Given the description of an element on the screen output the (x, y) to click on. 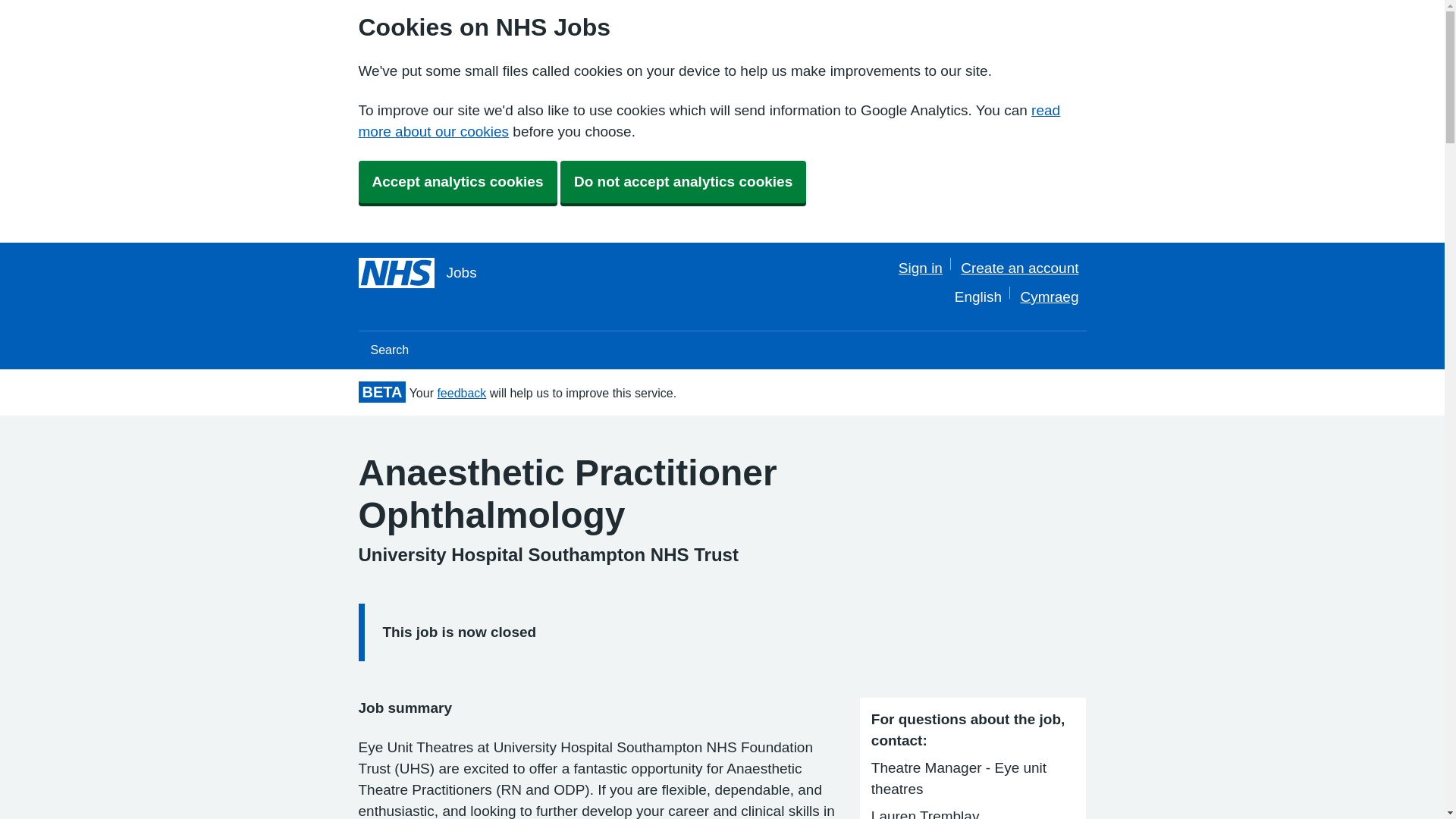
Accept analytics cookies (457, 181)
English (978, 296)
Do not accept analytics cookies (683, 181)
Search (389, 350)
Create an account (1019, 268)
feedback (461, 392)
Sign in (920, 268)
Cymraeg (1049, 296)
read more about our cookies (708, 120)
Jobs (417, 272)
